Given the description of an element on the screen output the (x, y) to click on. 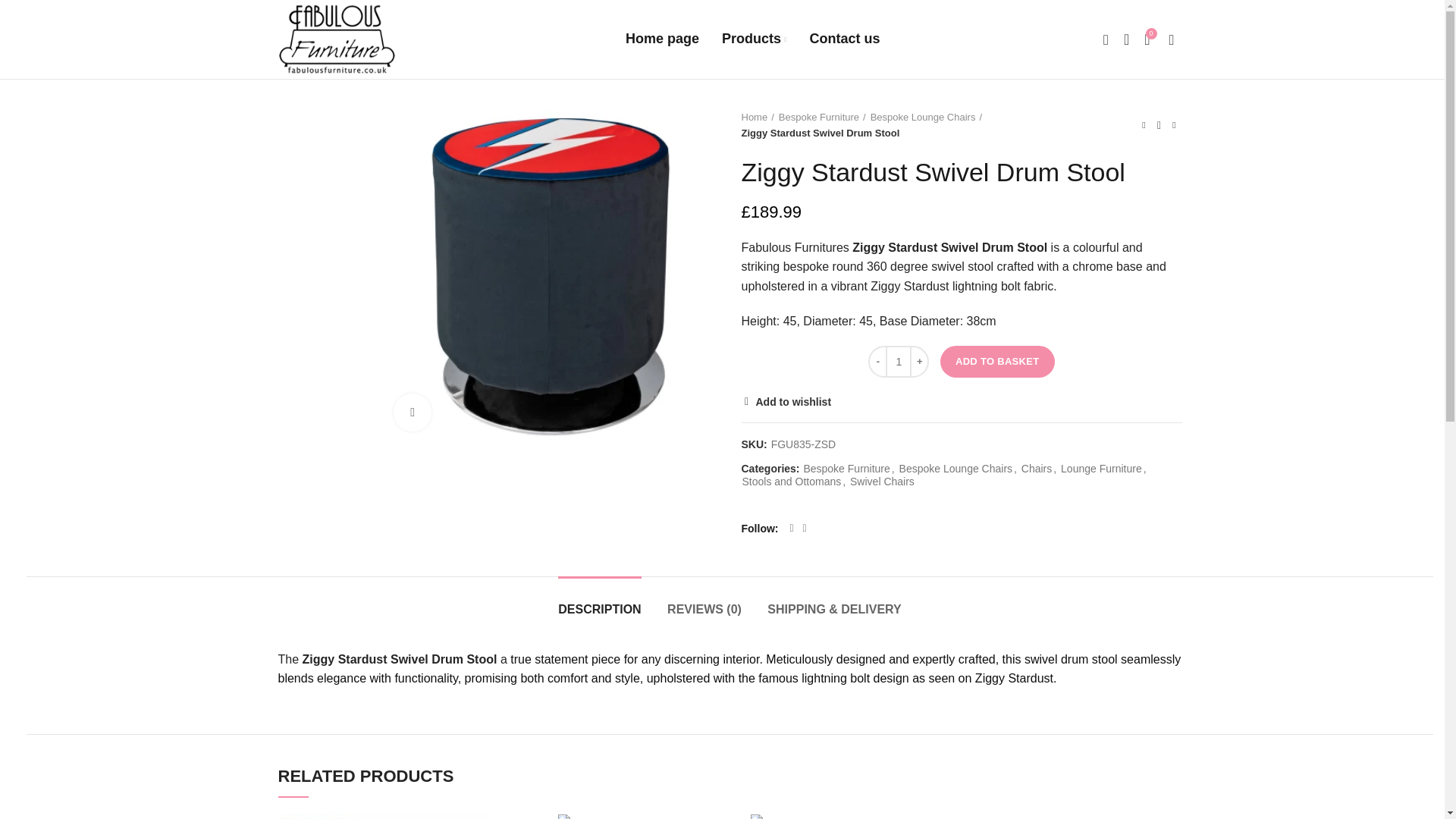
Home page (662, 39)
Products (722, 39)
Ziggy Stardust Swivel Drum Stool (753, 39)
